Given the description of an element on the screen output the (x, y) to click on. 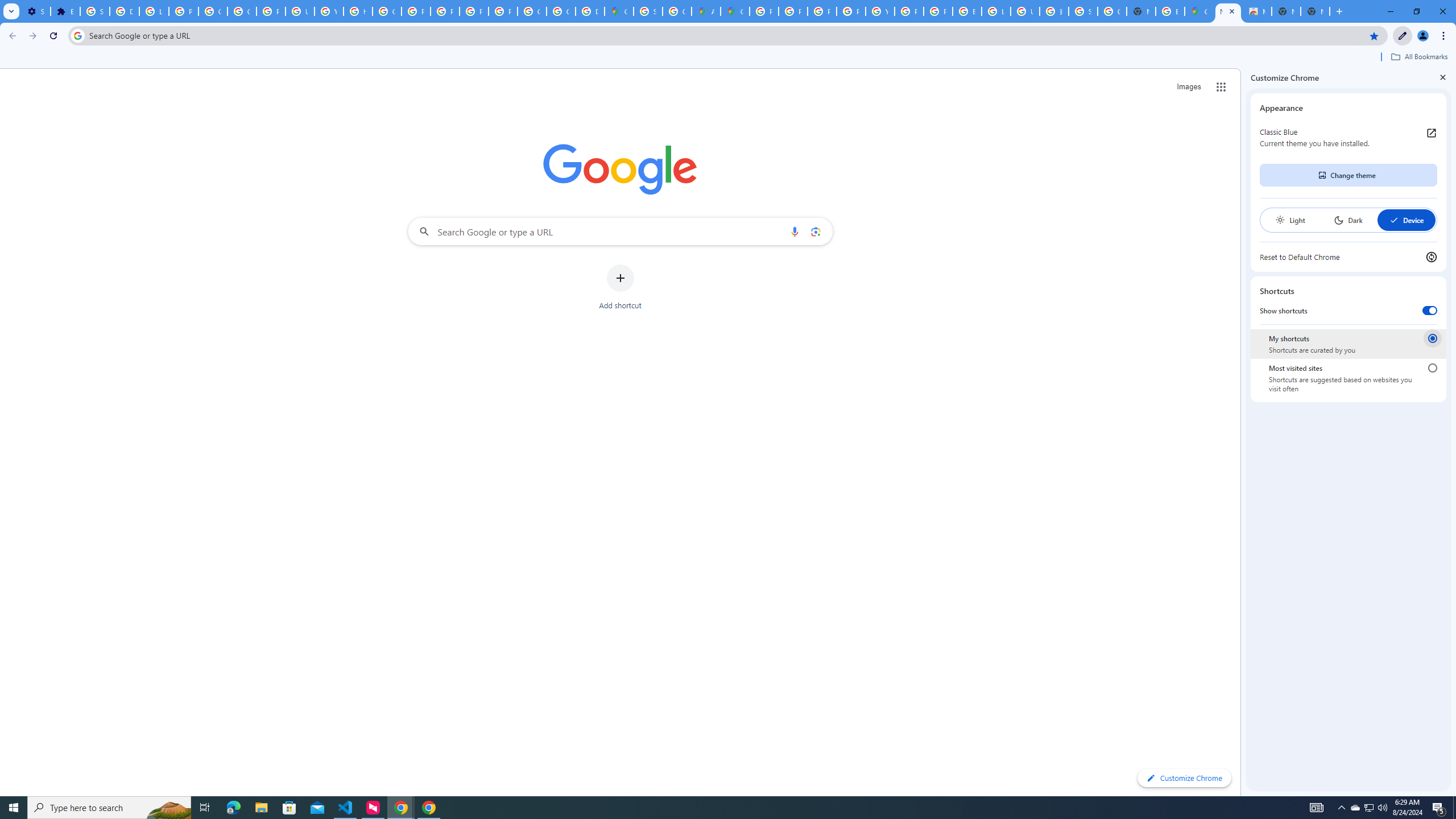
Most visited sites (1432, 367)
Privacy Help Center - Policies Help (792, 11)
Sign in - Google Accounts (95, 11)
Google Maps (619, 11)
Policy Accountability and Transparency - Transparency Center (763, 11)
My shortcuts (1432, 338)
Google Maps (1198, 11)
Show shortcuts (1429, 310)
Create your Google Account (677, 11)
Bookmarks (728, 58)
Change theme (1348, 174)
